Given the description of an element on the screen output the (x, y) to click on. 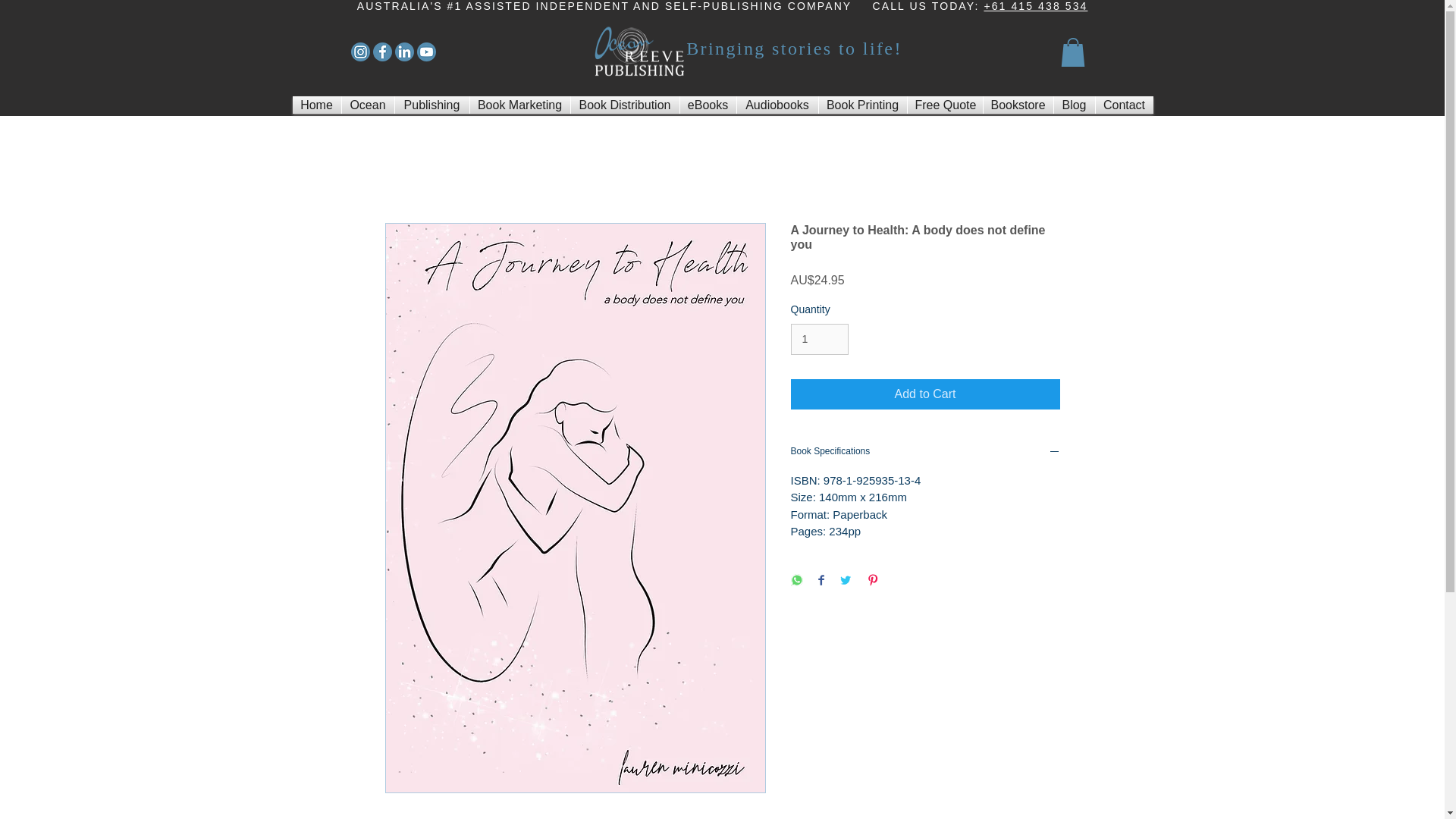
Book Printing (862, 104)
1 (818, 338)
Home (316, 104)
Bookstore (1017, 104)
eBooks (707, 104)
Blog (1074, 104)
Contact (1123, 104)
Add to Cart (924, 394)
Book Specifications (924, 452)
Ocean (366, 104)
Book Marketing (520, 104)
Audiobooks (777, 104)
Publishing (431, 104)
Book Distribution (624, 104)
Free Quote (944, 104)
